Given the description of an element on the screen output the (x, y) to click on. 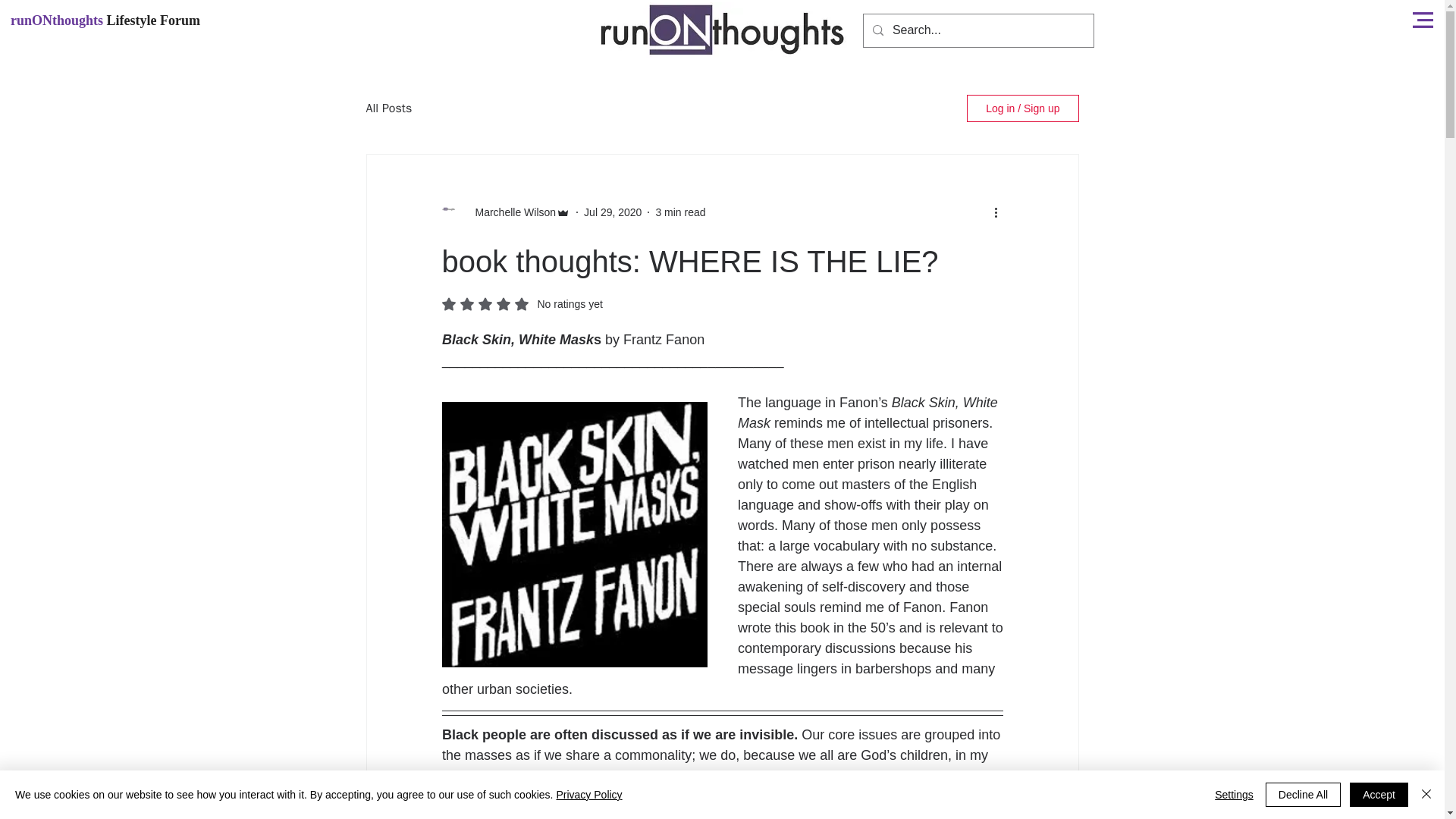
Accept (1378, 794)
Jul 29, 2020 (612, 212)
3 min read (679, 212)
Privacy Policy (588, 794)
All Posts (388, 107)
runONthoughts Lifestyle Forum (105, 20)
Marchelle Wilson (521, 304)
